Given the description of an element on the screen output the (x, y) to click on. 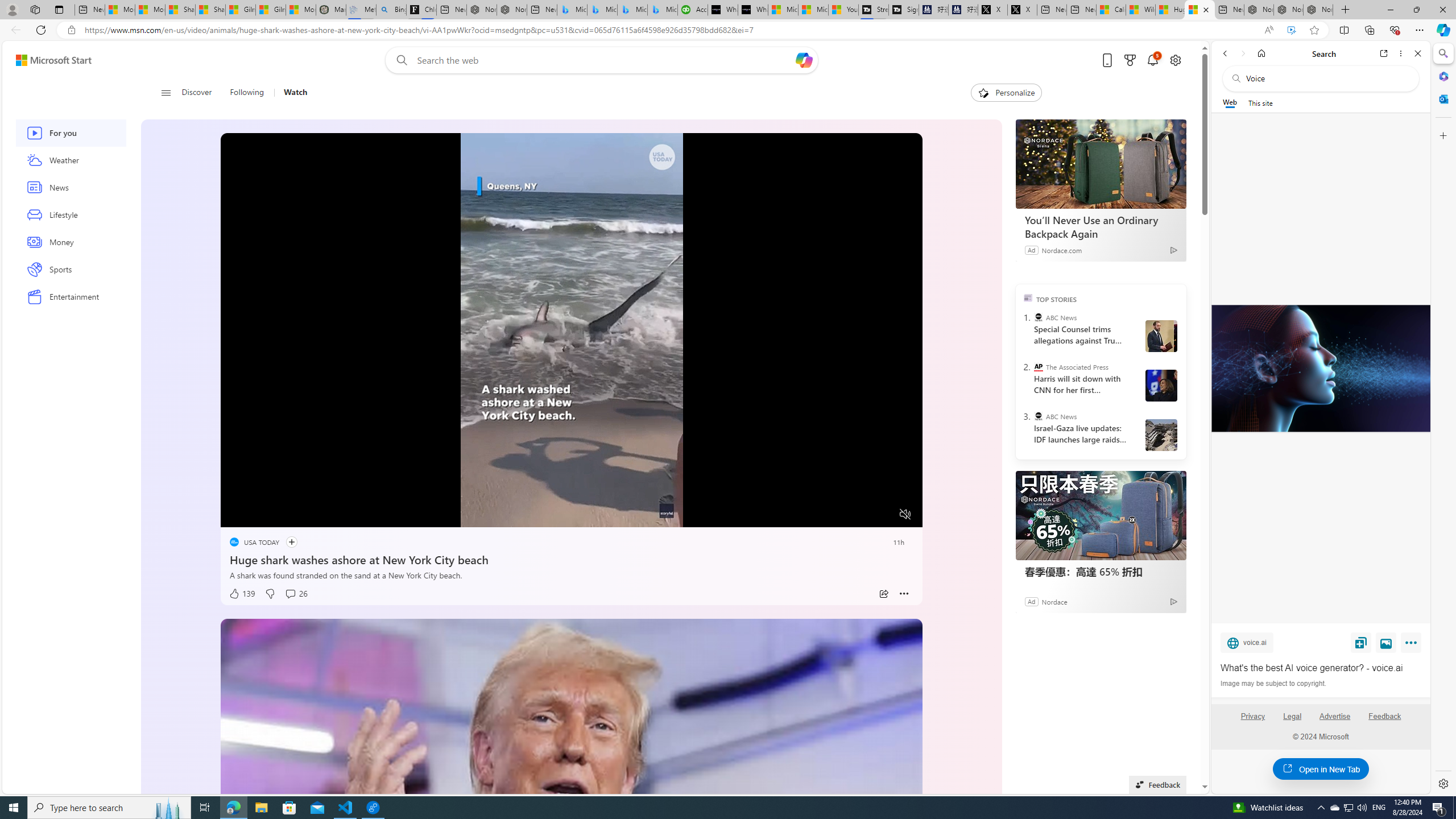
Microsoft Bing Travel - Shangri-La Hotel Bangkok (662, 9)
Microsoft 365 (1442, 76)
What's the best AI voice generator? - voice.ai (1320, 368)
Bing Real Estate - Home sales and rental listings (390, 9)
Open settings (1175, 60)
Open navigation menu (164, 92)
Streaming Coverage | T3 (873, 9)
Home (1261, 53)
